Given the description of an element on the screen output the (x, y) to click on. 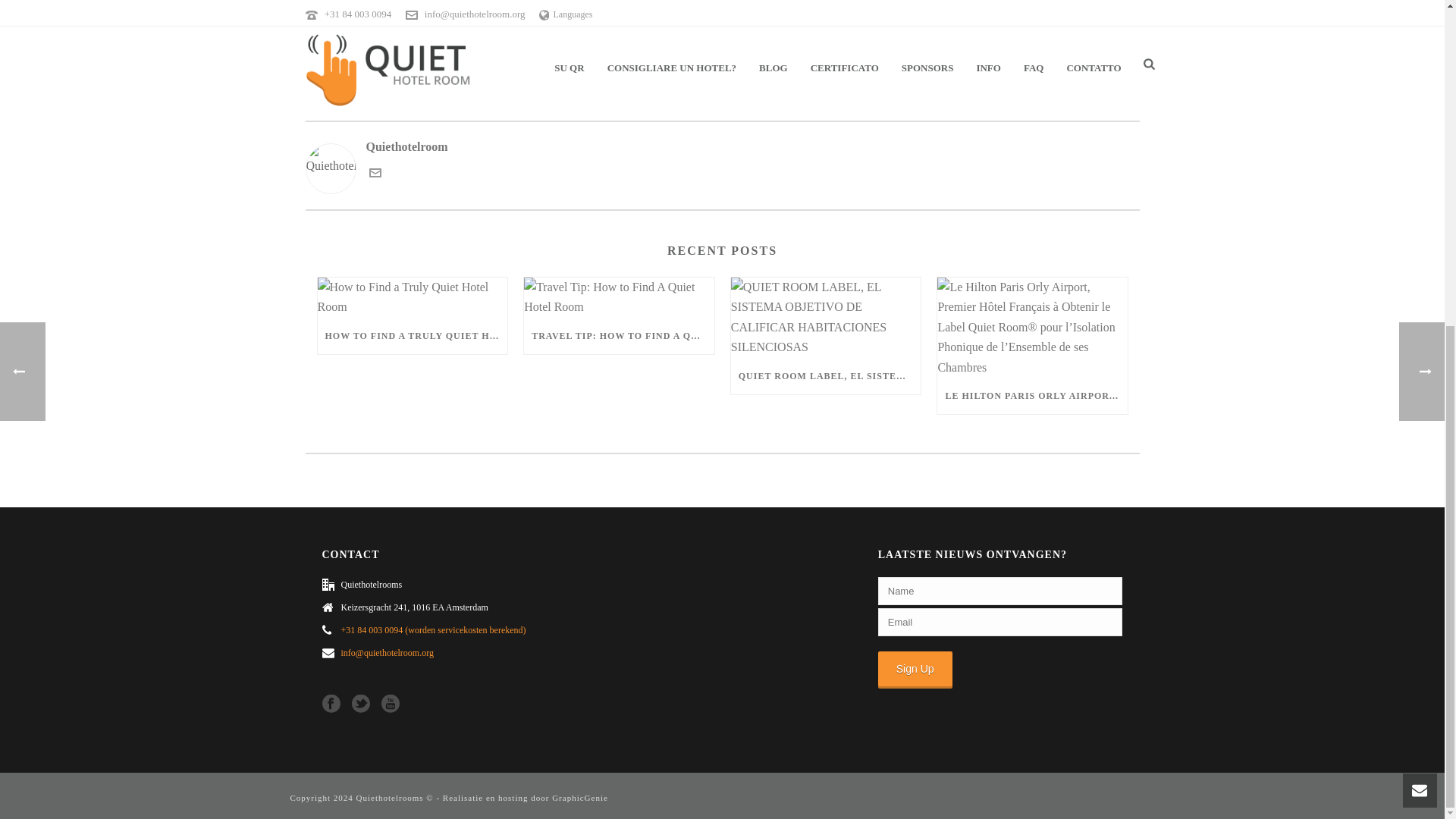
Travel Tip: How to Find A Quiet Hotel Room (619, 297)
Follow Us on facebook (330, 704)
Sign Up (914, 668)
Get in touch with me via email (374, 174)
Follow Us on twitter (360, 704)
How to Find a Truly Quiet Hotel Room (411, 297)
